Given the description of an element on the screen output the (x, y) to click on. 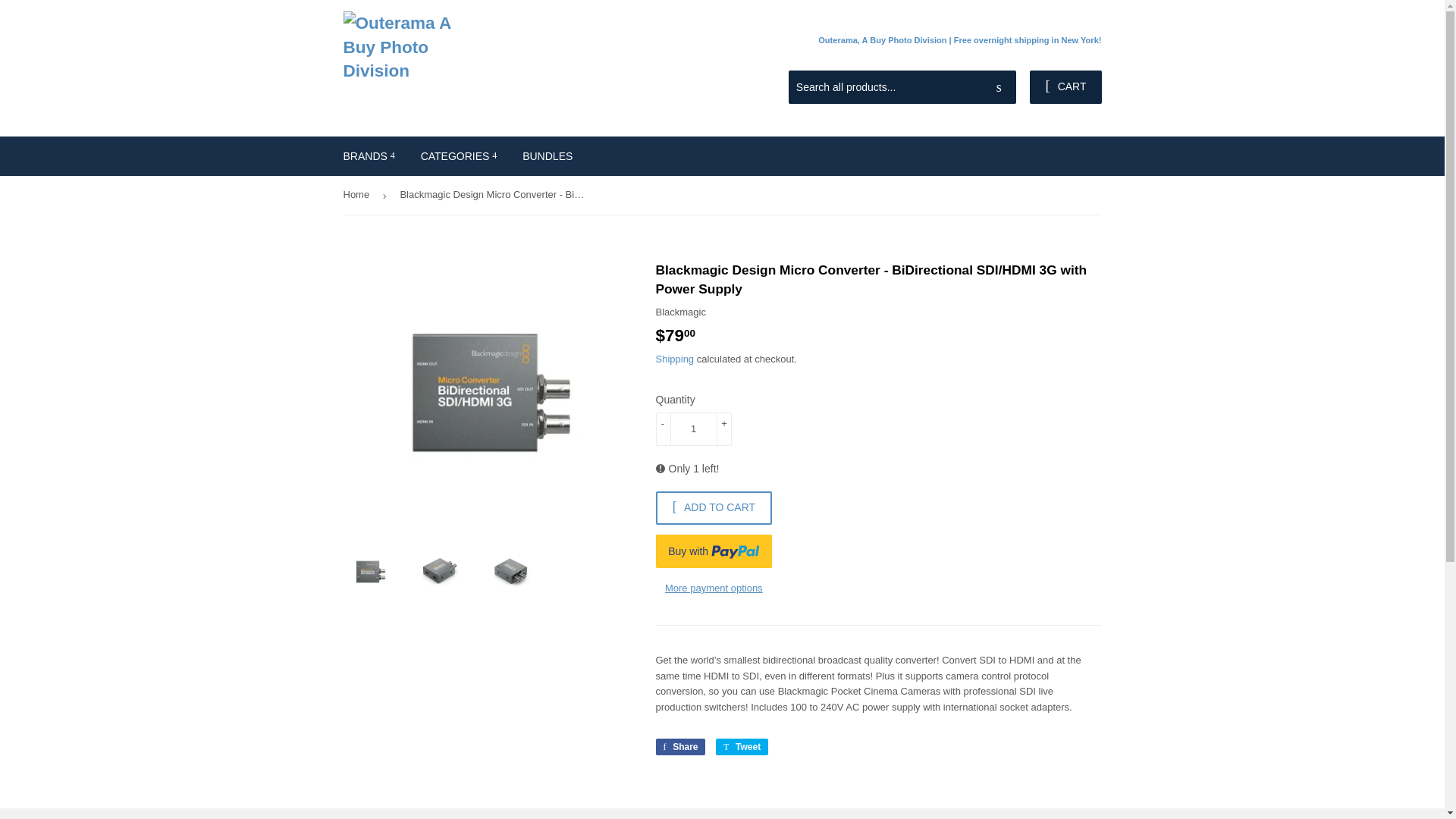
1 (692, 428)
Search (998, 88)
CART (1064, 87)
Share on Facebook (679, 746)
Tweet on Twitter (742, 746)
